Given the description of an element on the screen output the (x, y) to click on. 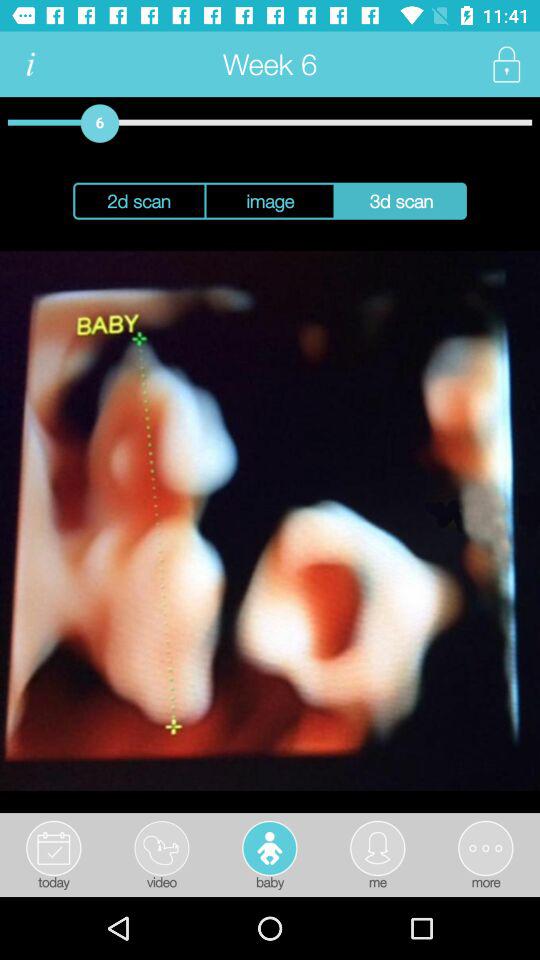
turn on app to the left of week 6 (30, 63)
